Given the description of an element on the screen output the (x, y) to click on. 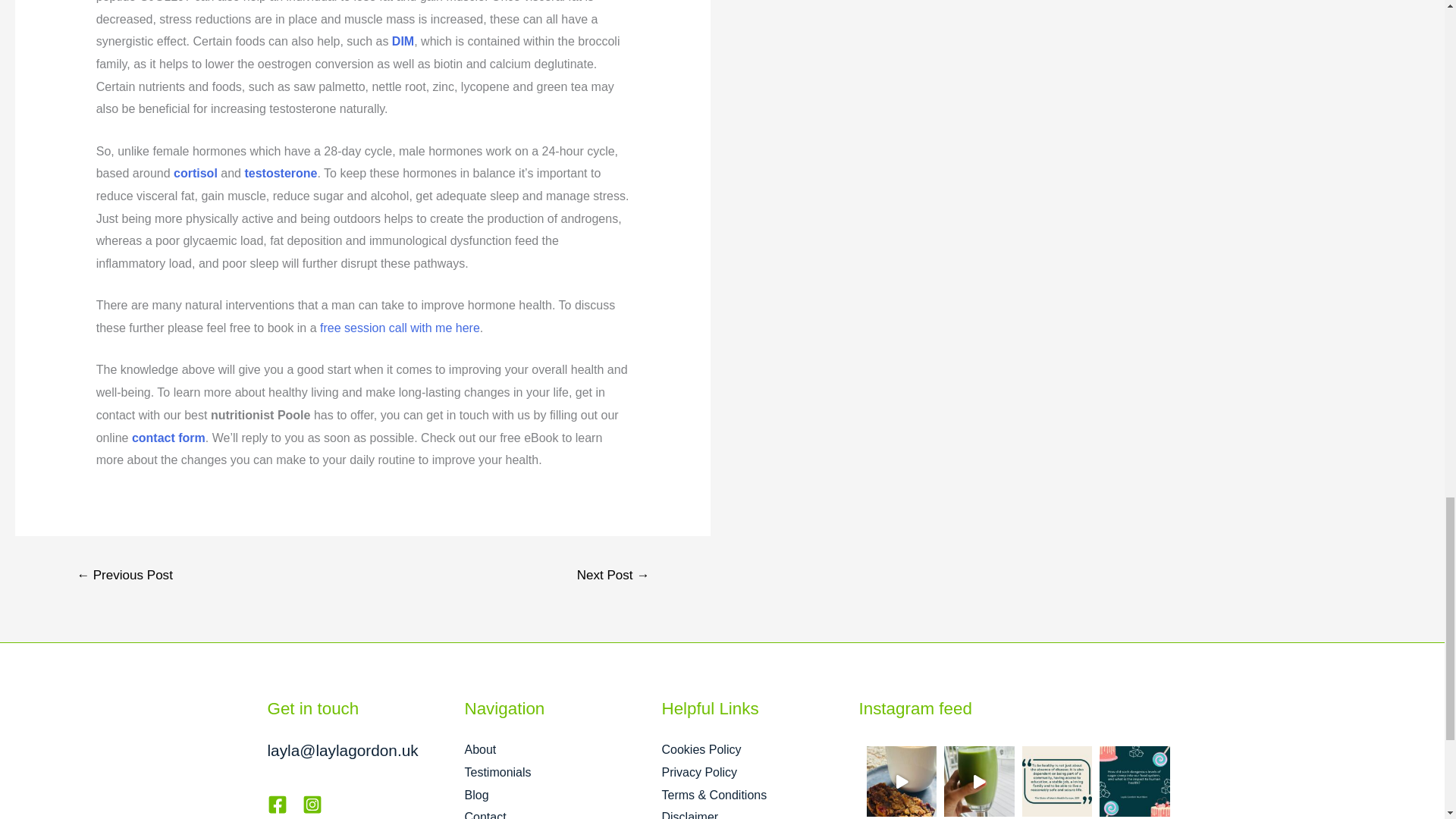
free session call with me here (400, 327)
DIM (402, 41)
testosterone (280, 173)
contact form (168, 437)
cortisol (194, 173)
